Given the description of an element on the screen output the (x, y) to click on. 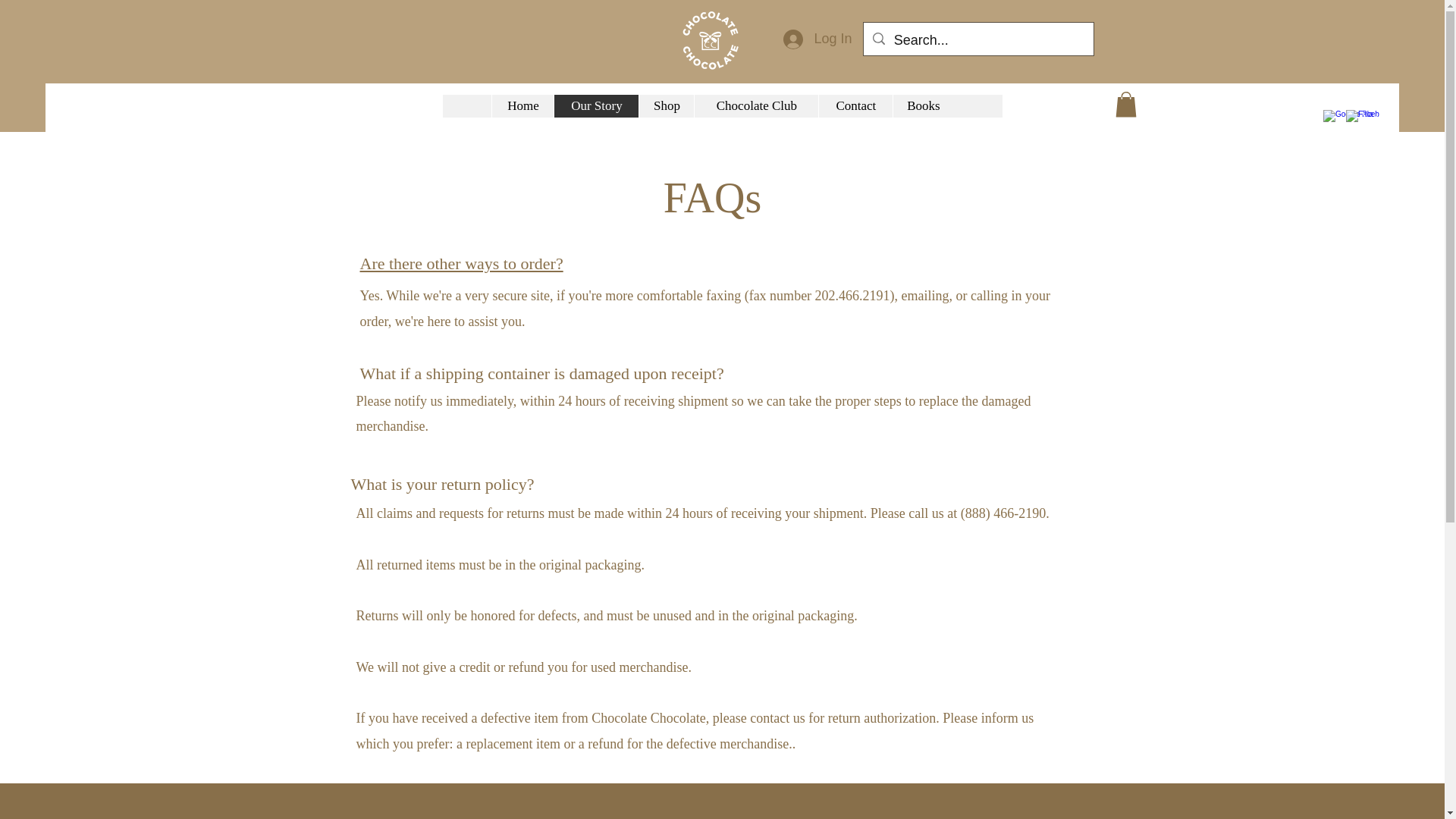
Shop (666, 106)
Books (922, 106)
Chocolate Club (756, 106)
Log In (817, 39)
Our Story (596, 106)
Contact (855, 106)
Home (522, 106)
